Given the description of an element on the screen output the (x, y) to click on. 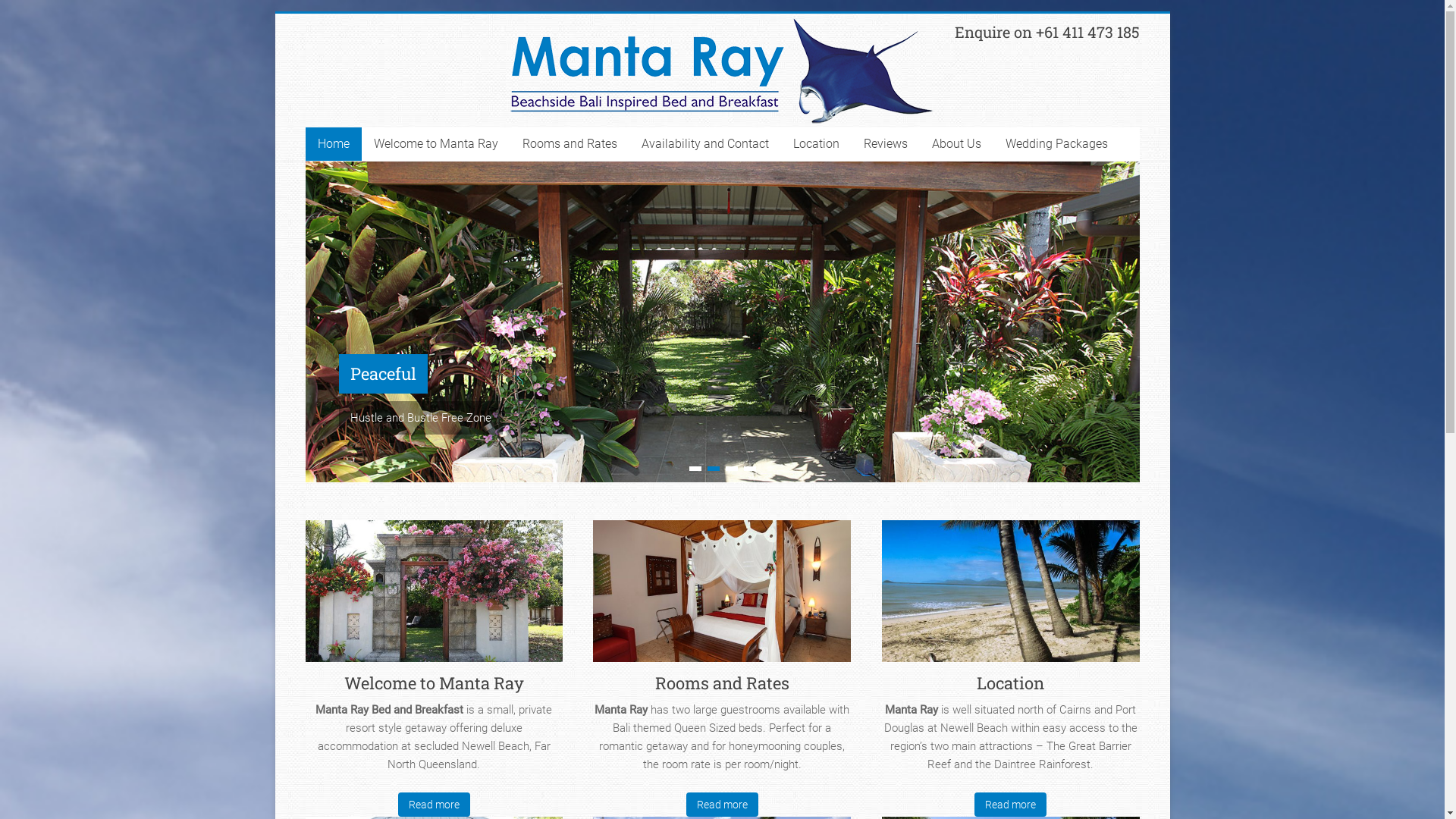
Read more Element type: text (433, 804)
Availability and Contact Element type: text (705, 143)
Rooms and Rates Element type: text (722, 682)
Welcome to Manta Ray Element type: text (434, 682)
Peaceful Element type: text (382, 373)
Welcome to Manta Ray Element type: text (434, 143)
Location Element type: text (816, 143)
Location Element type: text (1010, 682)
Wedding Packages Element type: text (1056, 143)
Location Element type: hover (1010, 596)
Rooms and Rates Element type: hover (721, 596)
Rooms and Rates Element type: text (568, 143)
Read more Element type: text (1010, 804)
About Us Element type: text (955, 143)
Reviews Element type: text (884, 143)
Home Element type: text (332, 143)
Read more Element type: text (721, 804)
Welcome to Manta Ray Element type: hover (433, 596)
